Given the description of an element on the screen output the (x, y) to click on. 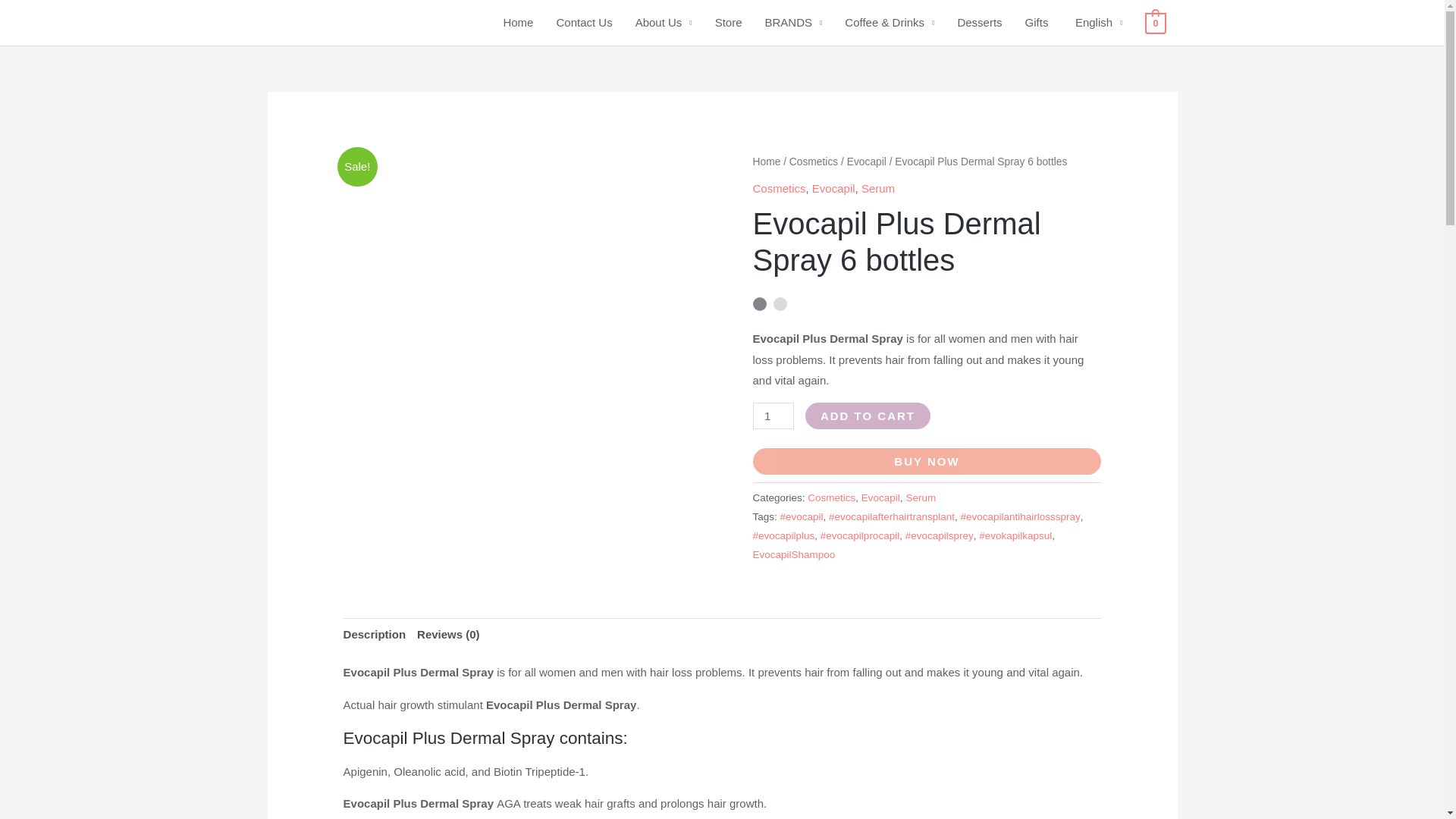
BRANDS (794, 22)
Cosmetics (813, 161)
Desserts (978, 22)
Serum (878, 187)
Home (518, 22)
Evocapil (834, 187)
Contact Us (583, 22)
Gifts (1036, 22)
English (1096, 22)
Evocapil (866, 161)
